Given the description of an element on the screen output the (x, y) to click on. 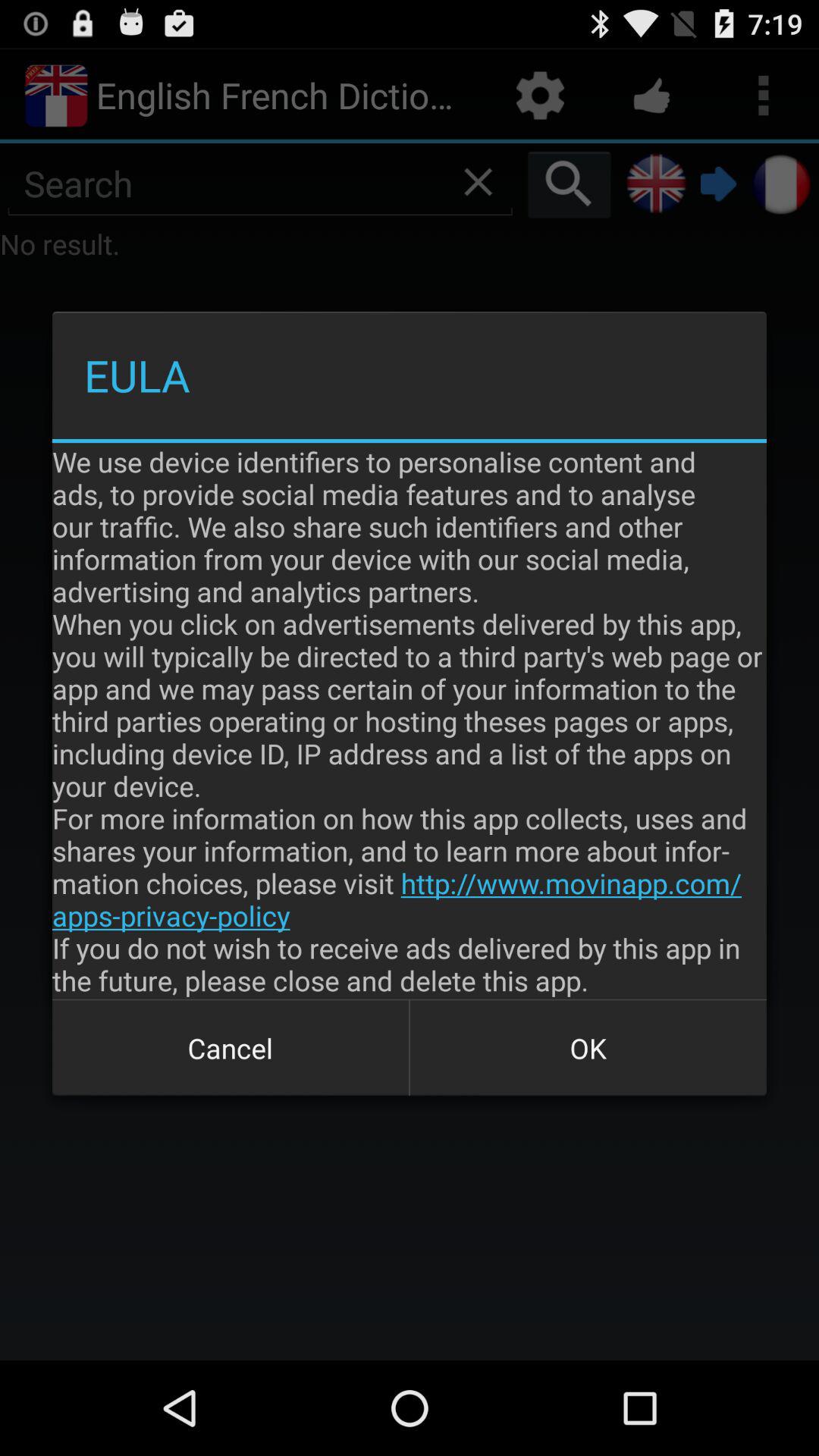
turn on item at the center (409, 721)
